Given the description of an element on the screen output the (x, y) to click on. 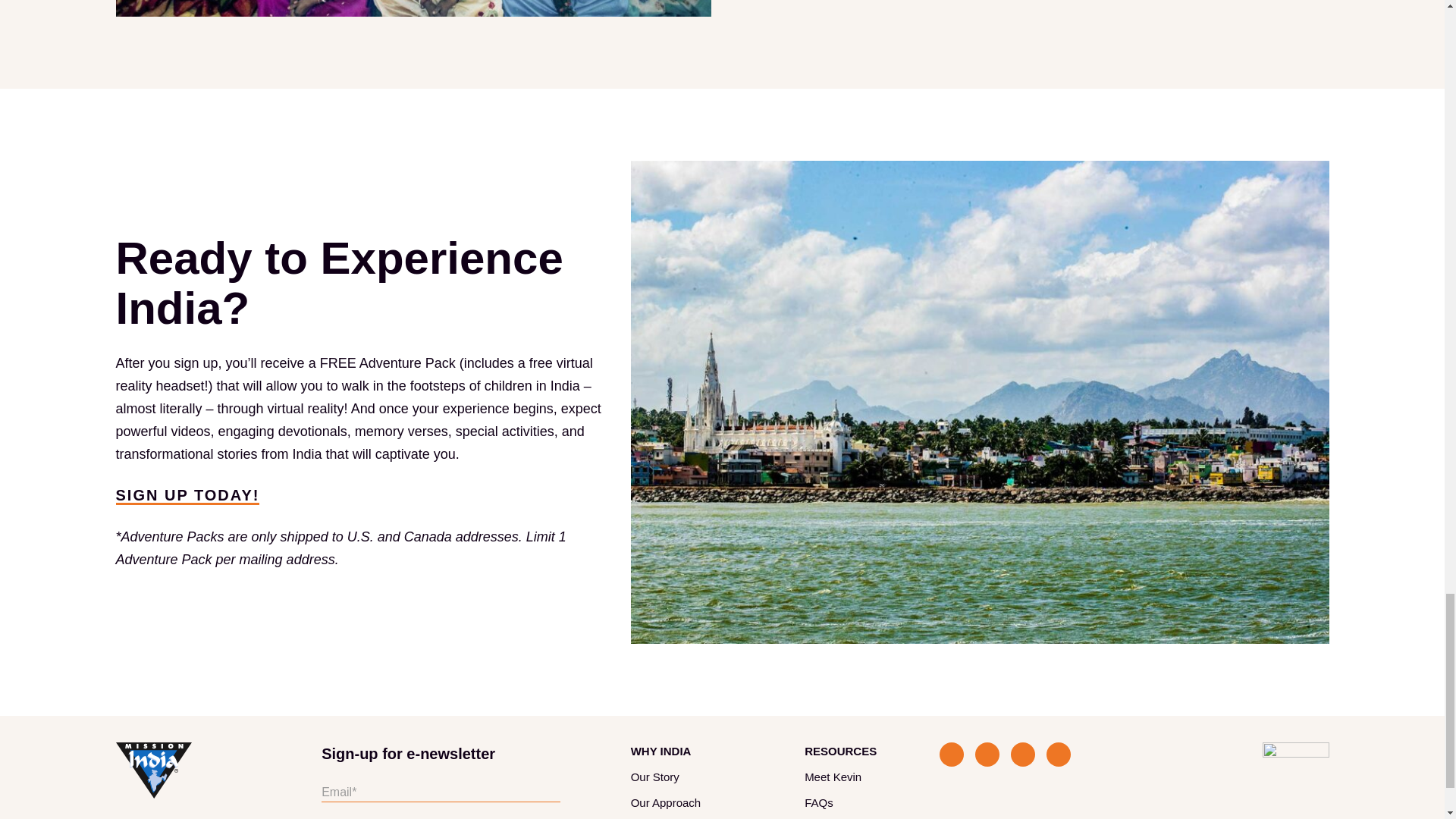
Our Story (654, 776)
RESOURCES (840, 750)
FAQs (818, 802)
Meet Kevin (833, 776)
WHY INDIA (660, 750)
SIGN UP TODAY! (187, 496)
Our Approach (665, 802)
Mission India (152, 771)
